Given the description of an element on the screen output the (x, y) to click on. 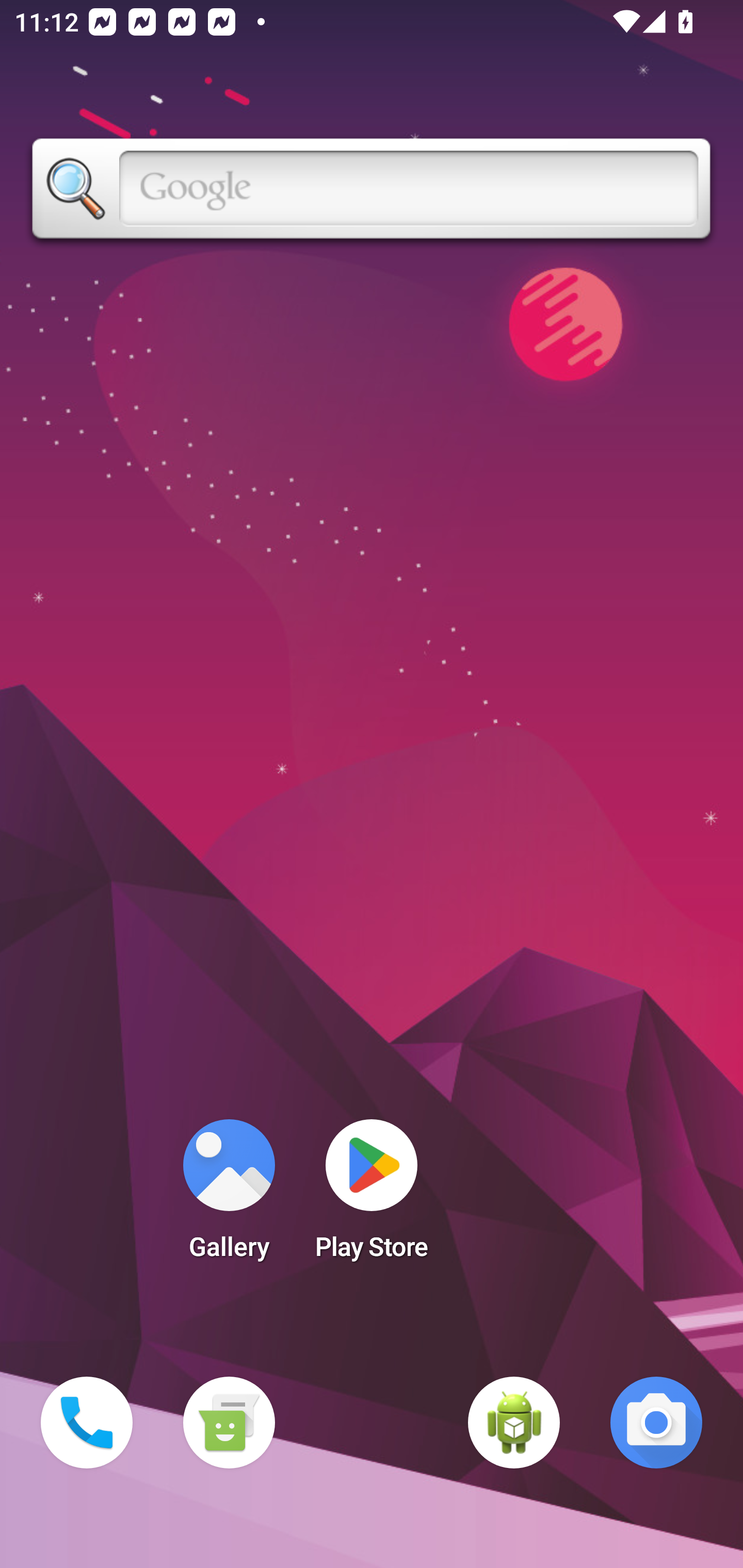
Gallery (228, 1195)
Play Store (371, 1195)
Phone (86, 1422)
Messaging (228, 1422)
WebView Browser Tester (513, 1422)
Camera (656, 1422)
